Given the description of an element on the screen output the (x, y) to click on. 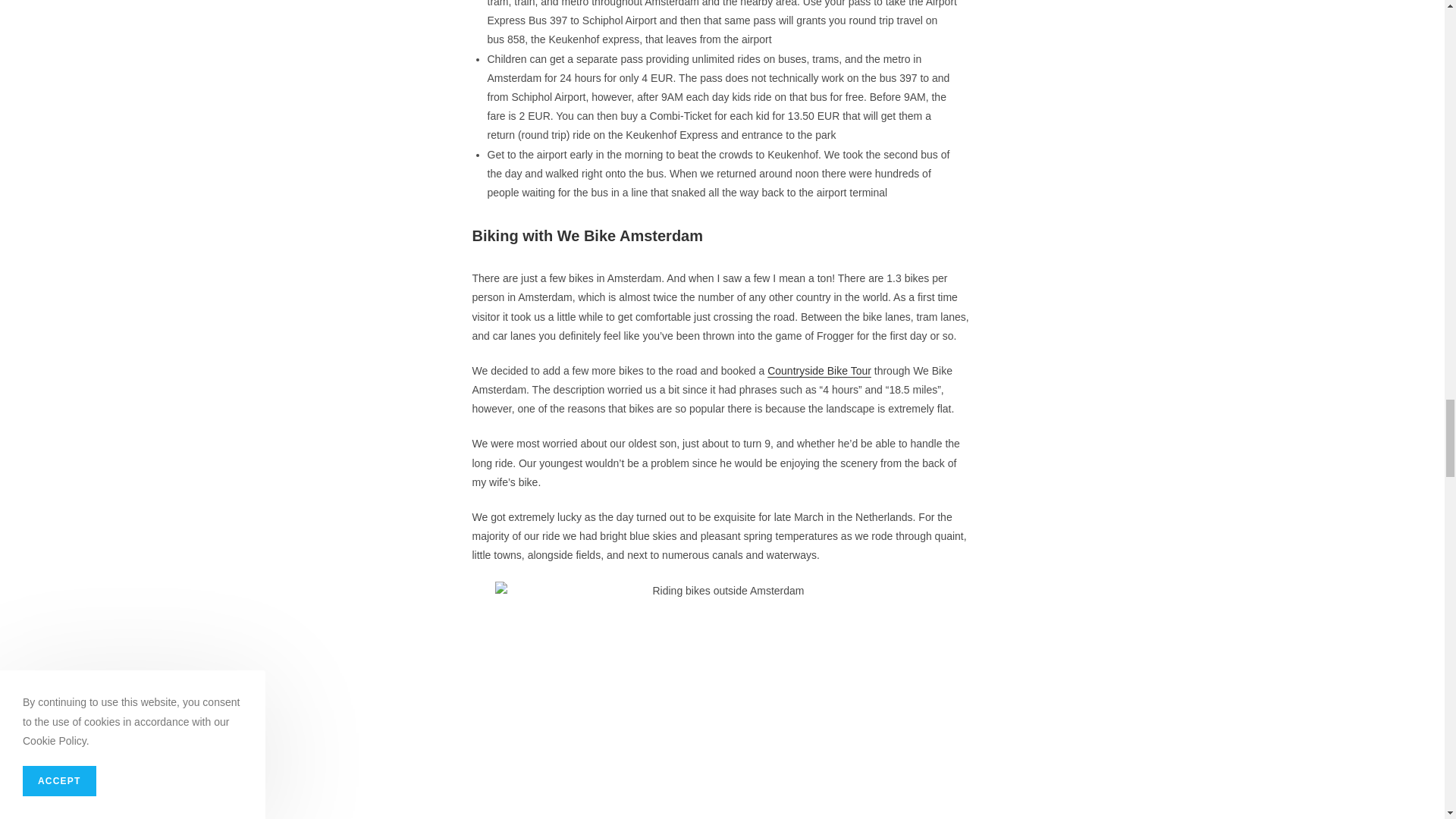
Countryside Bike Tour (818, 370)
